Given the description of an element on the screen output the (x, y) to click on. 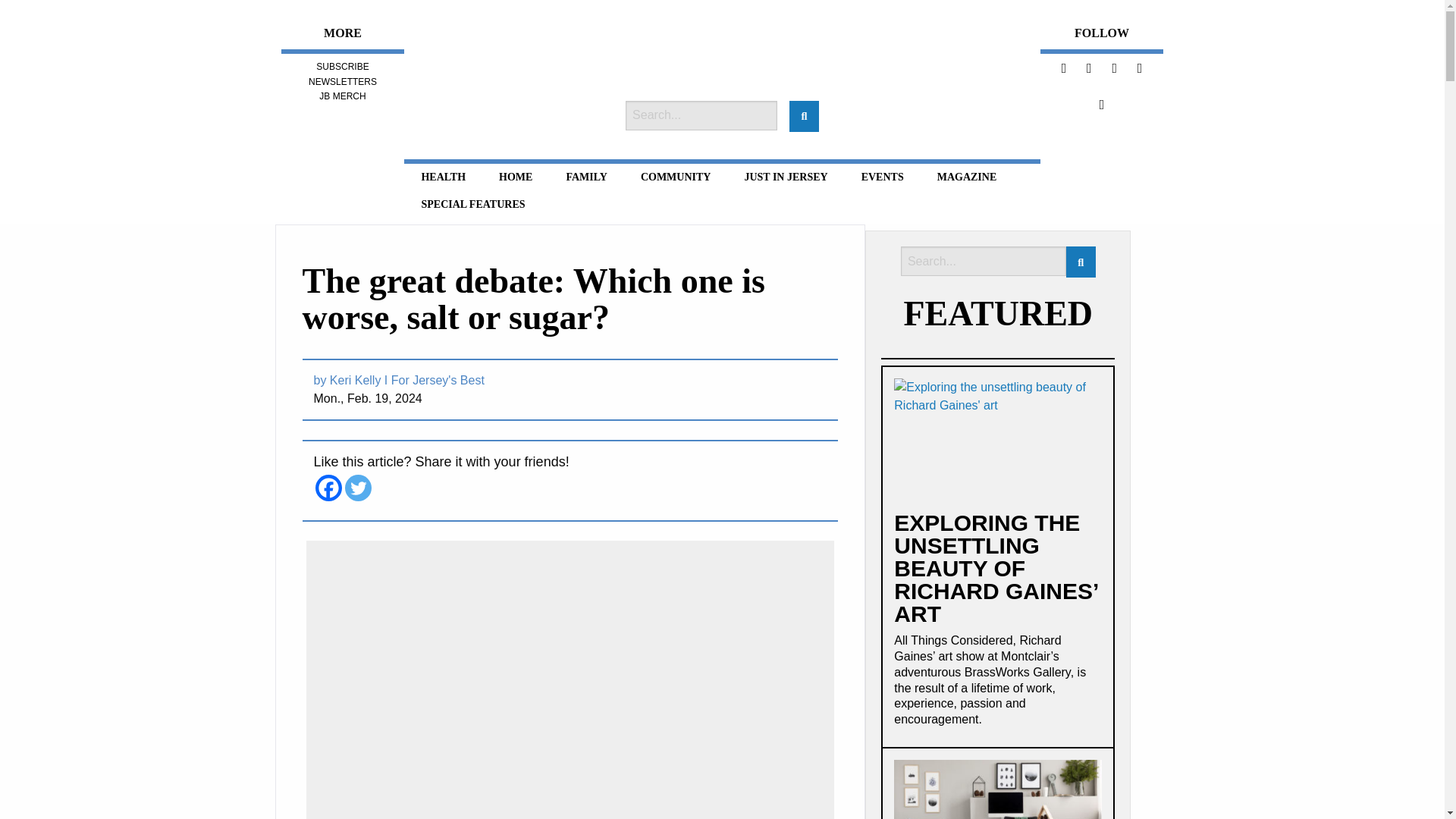
SPECIAL FEATURES (473, 204)
The great debate: Which one is worse, salt or sugar? (532, 298)
NEWSLETTERS (342, 81)
HOME (515, 176)
MAGAZINE (966, 176)
Facebook (328, 488)
COMMUNITY (675, 176)
FAMILY (585, 176)
JB MERCH (341, 95)
The great debate: Which one is worse, salt or sugar? (532, 298)
